Given the description of an element on the screen output the (x, y) to click on. 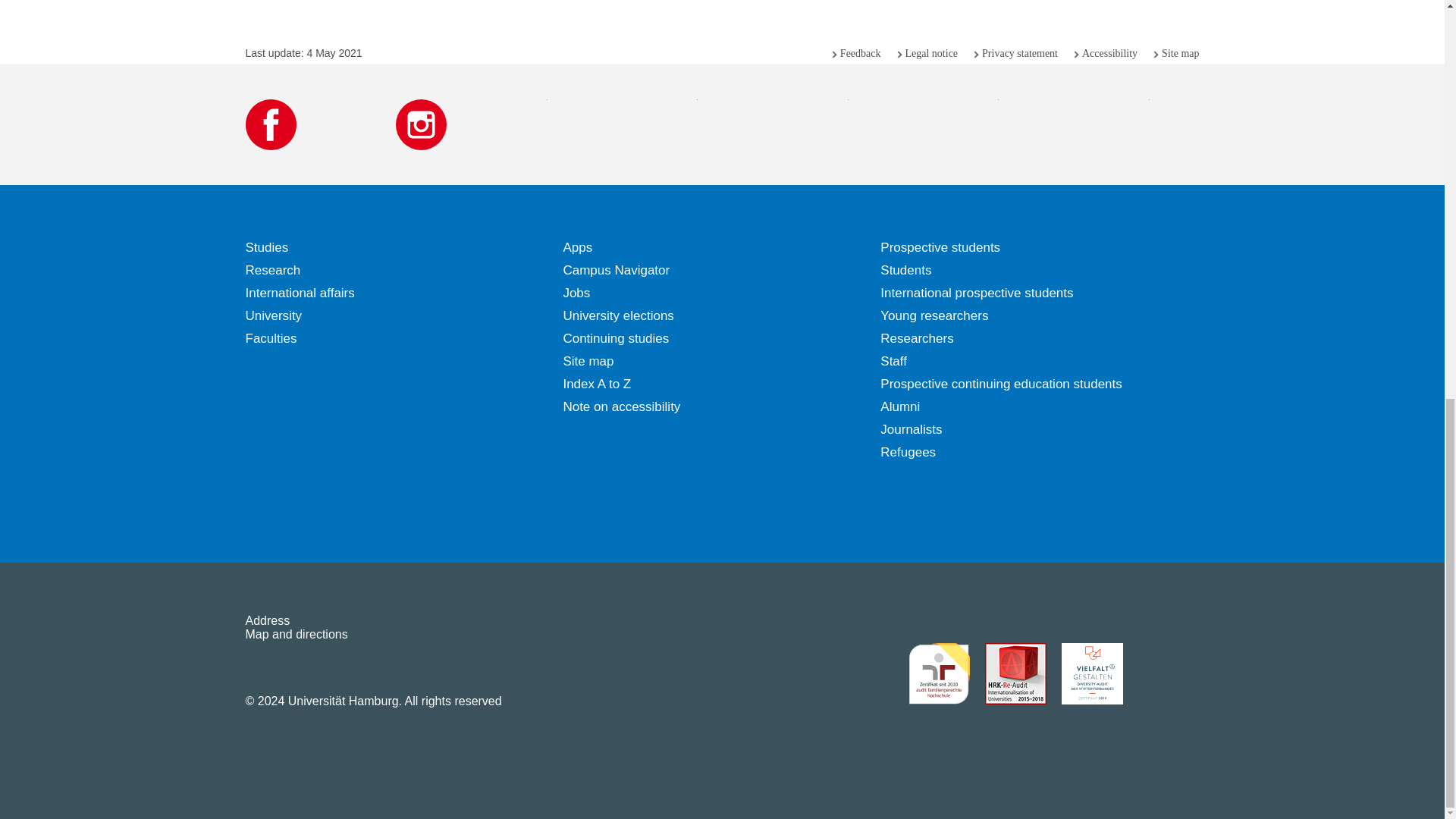
Go to Diversity Audit (1091, 673)
Go to System accreditation (1167, 673)
Go to family-friendly higher education institution audit (938, 673)
Go to internationalisation re-audit (1014, 673)
